Given the description of an element on the screen output the (x, y) to click on. 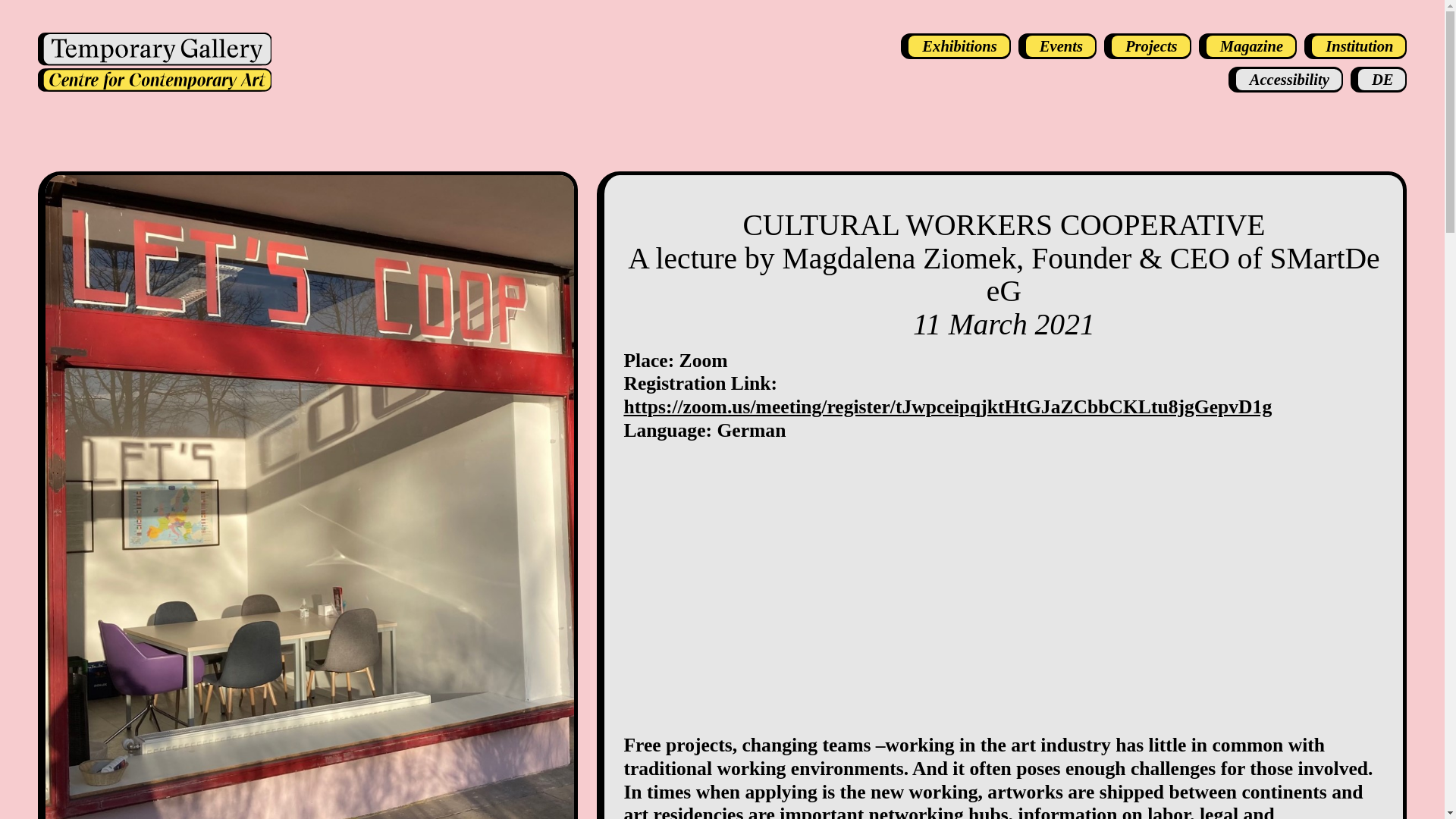
Projects (1147, 45)
Projects (1147, 45)
Accessibility (1285, 79)
Exhibitions (955, 45)
Accessibility (1285, 79)
Events (1056, 45)
de (1379, 79)
Institution (1355, 45)
Exhibitions (955, 45)
Institution (1355, 45)
